Given the description of an element on the screen output the (x, y) to click on. 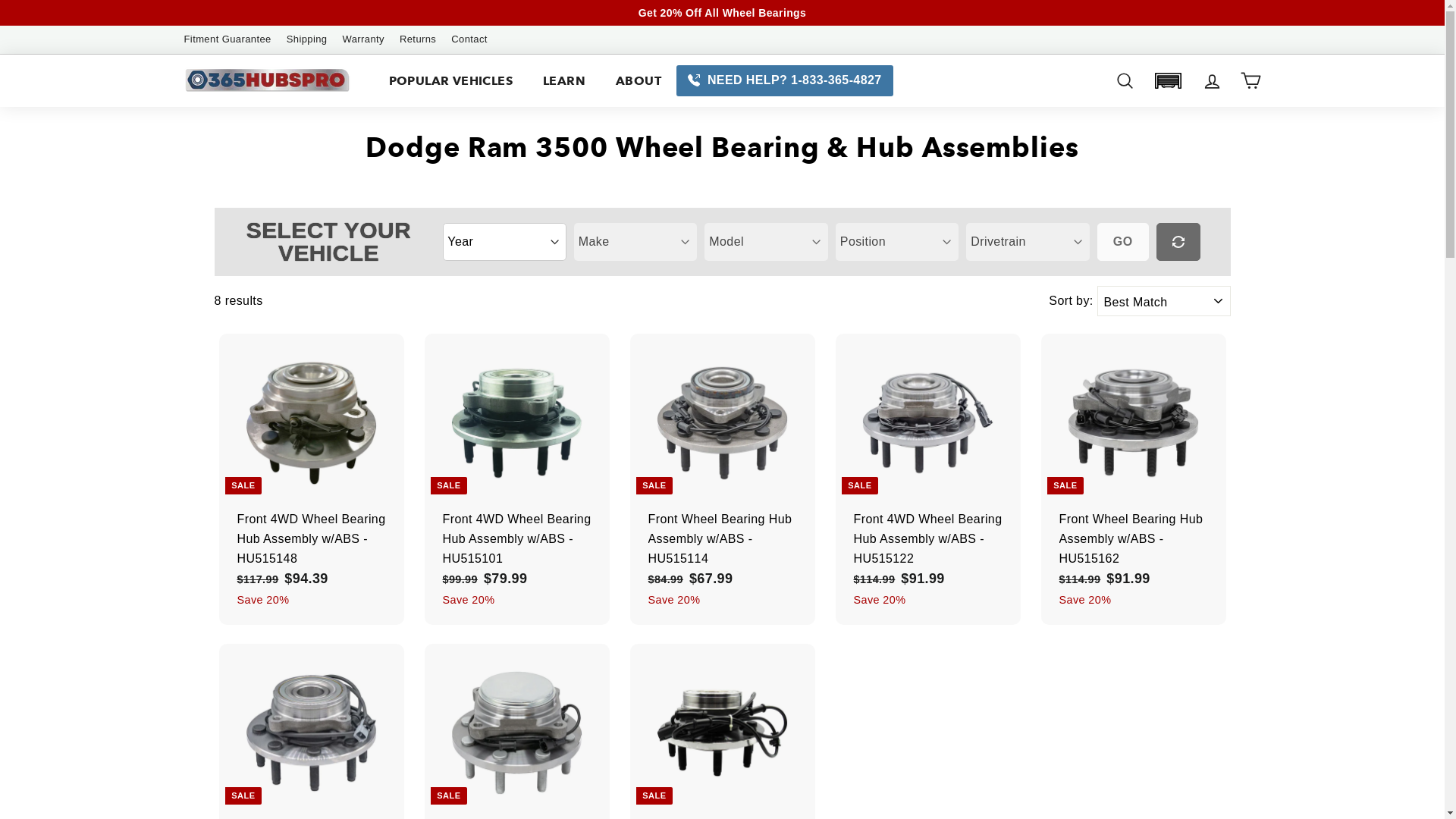
SEARCH Element type: text (1124, 80)
Garage: 0 item(s) Element type: hover (1167, 80)
LEARN Element type: text (563, 81)
ABOUT Element type: text (638, 81)
POPULAR VEHICLES Element type: text (450, 81)
Contact Element type: text (469, 39)
Fitment Guarantee Element type: text (226, 39)
Shipping Element type: text (306, 39)
NEED HELP? 1-833-365-4827 Element type: text (784, 80)
Warranty Element type: text (363, 39)
Skip to content Element type: text (0, 0)
Returns Element type: text (417, 39)
ACCOUNT Element type: text (1211, 80)
